Given the description of an element on the screen output the (x, y) to click on. 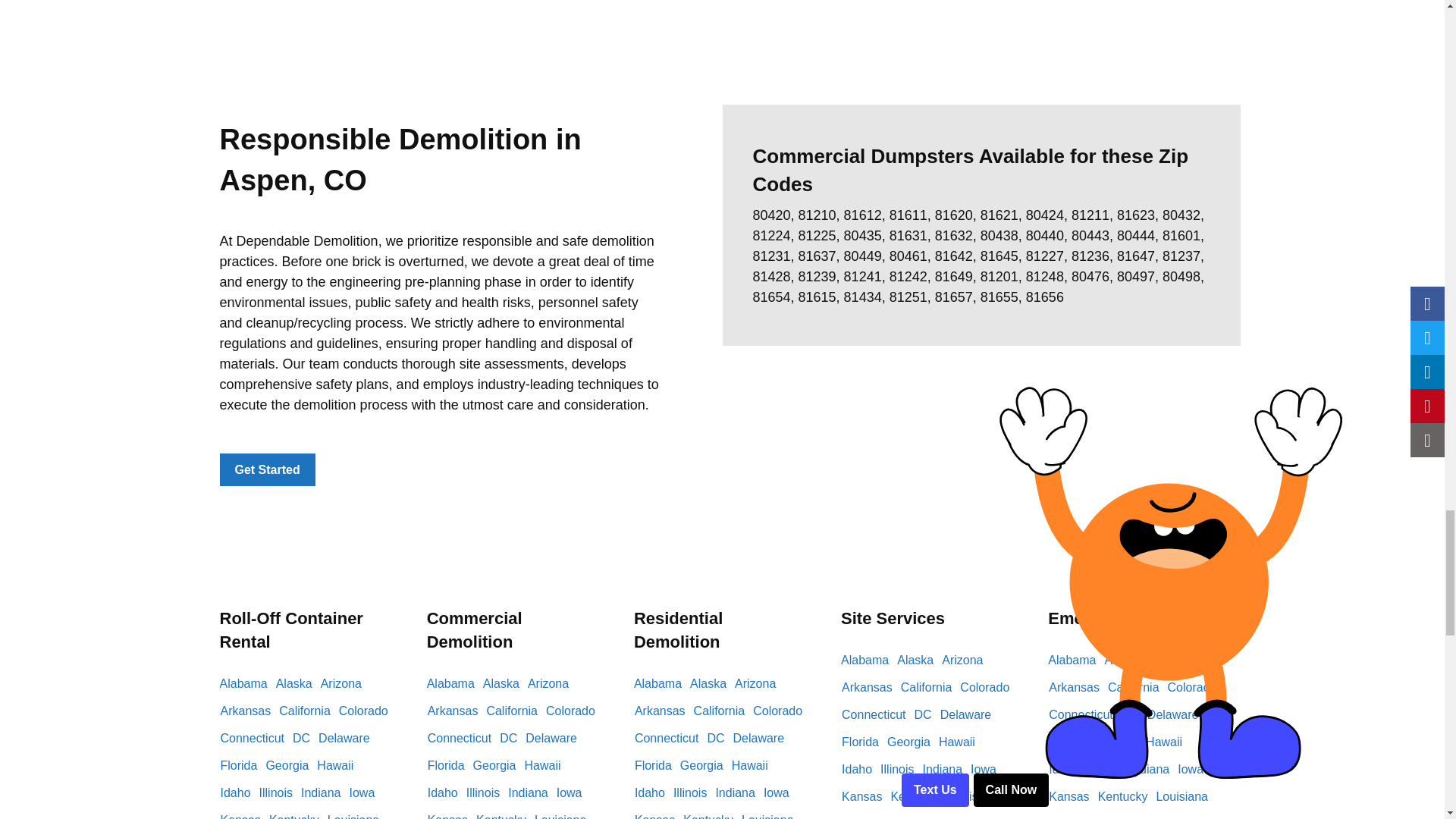
DC (304, 738)
Colorado (367, 710)
Get Started (267, 469)
Alabama (247, 683)
Arkansas (248, 710)
Arizona (344, 683)
California (308, 710)
Connecticut (255, 738)
Georgia (289, 765)
Florida (241, 765)
Alaska (298, 683)
Delaware (347, 738)
